Given the description of an element on the screen output the (x, y) to click on. 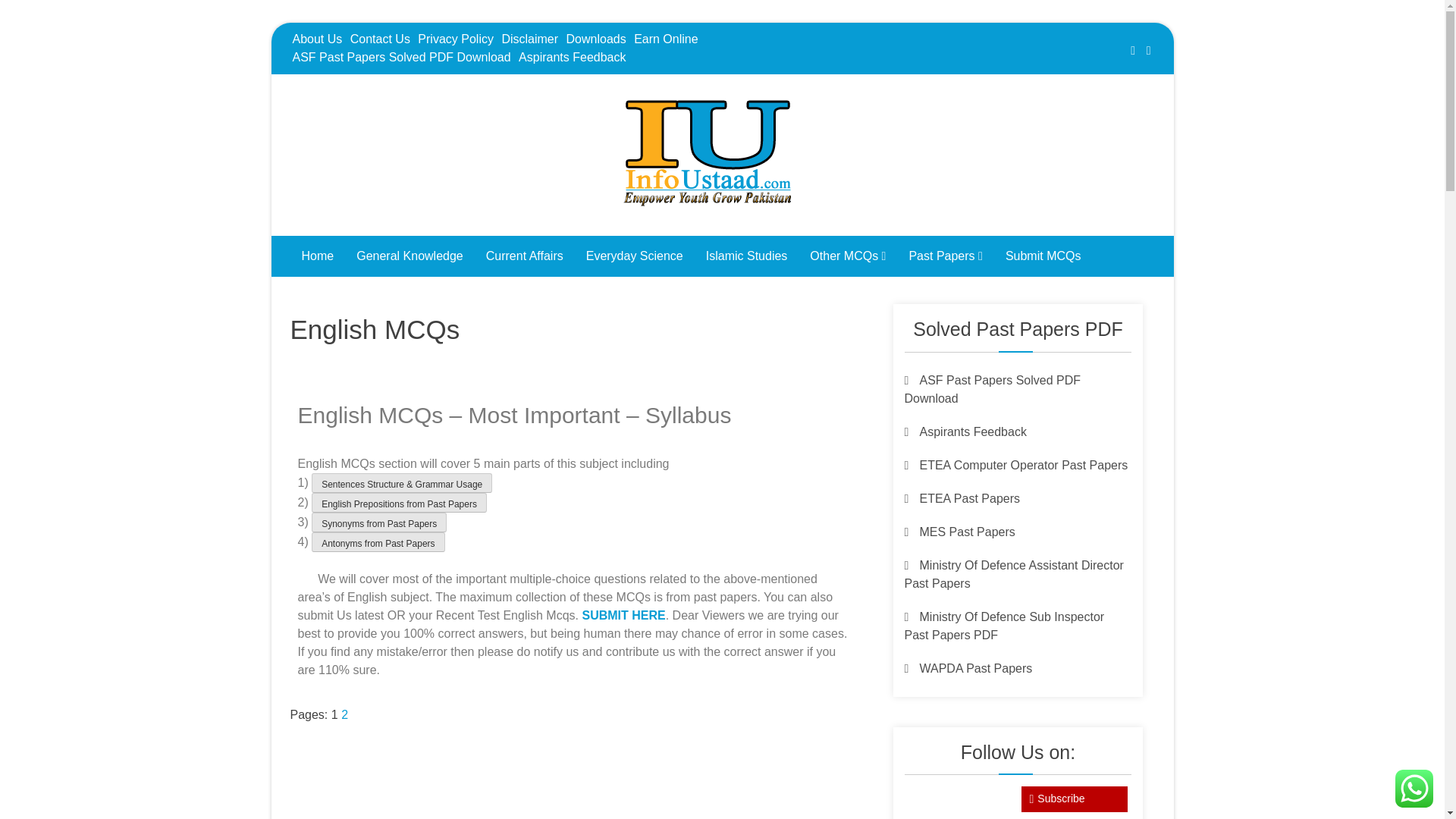
Home (317, 255)
Privacy Policy (455, 38)
General Knowledge (409, 255)
Contact Us (379, 38)
Disclaimer (529, 38)
Current Affairs (524, 255)
About Us (316, 38)
Downloads (596, 38)
Aspirants Feedback (571, 56)
Earn Online (665, 38)
ASF Past Papers Solved PDF Download (400, 56)
Islamic Studies (746, 255)
Submit MCQs (1043, 255)
Everyday Science (634, 255)
